Given the description of an element on the screen output the (x, y) to click on. 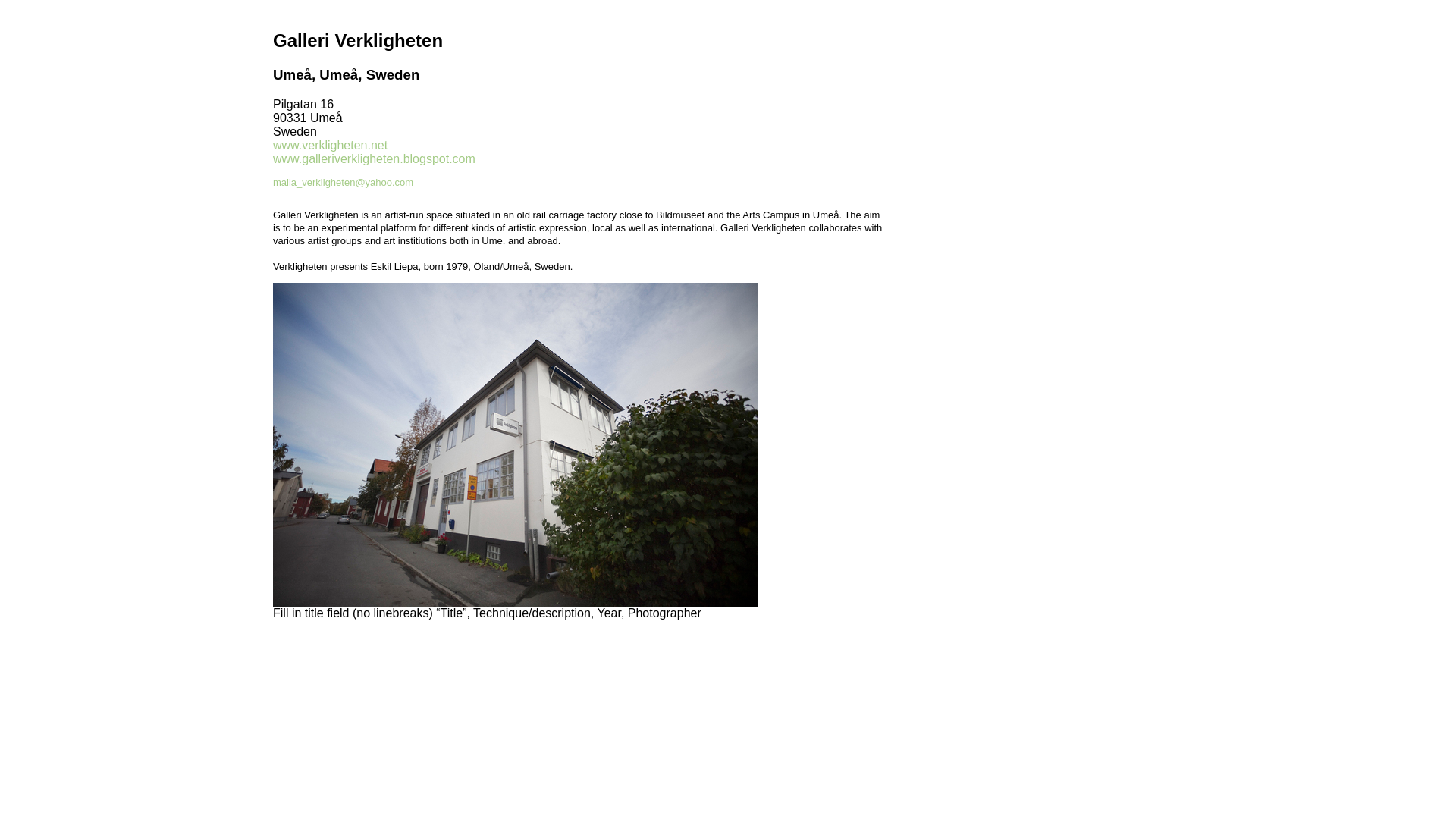
www.galleriverkligheten.blogspot.com (374, 158)
www.verkligheten.net (330, 144)
